Given the description of an element on the screen output the (x, y) to click on. 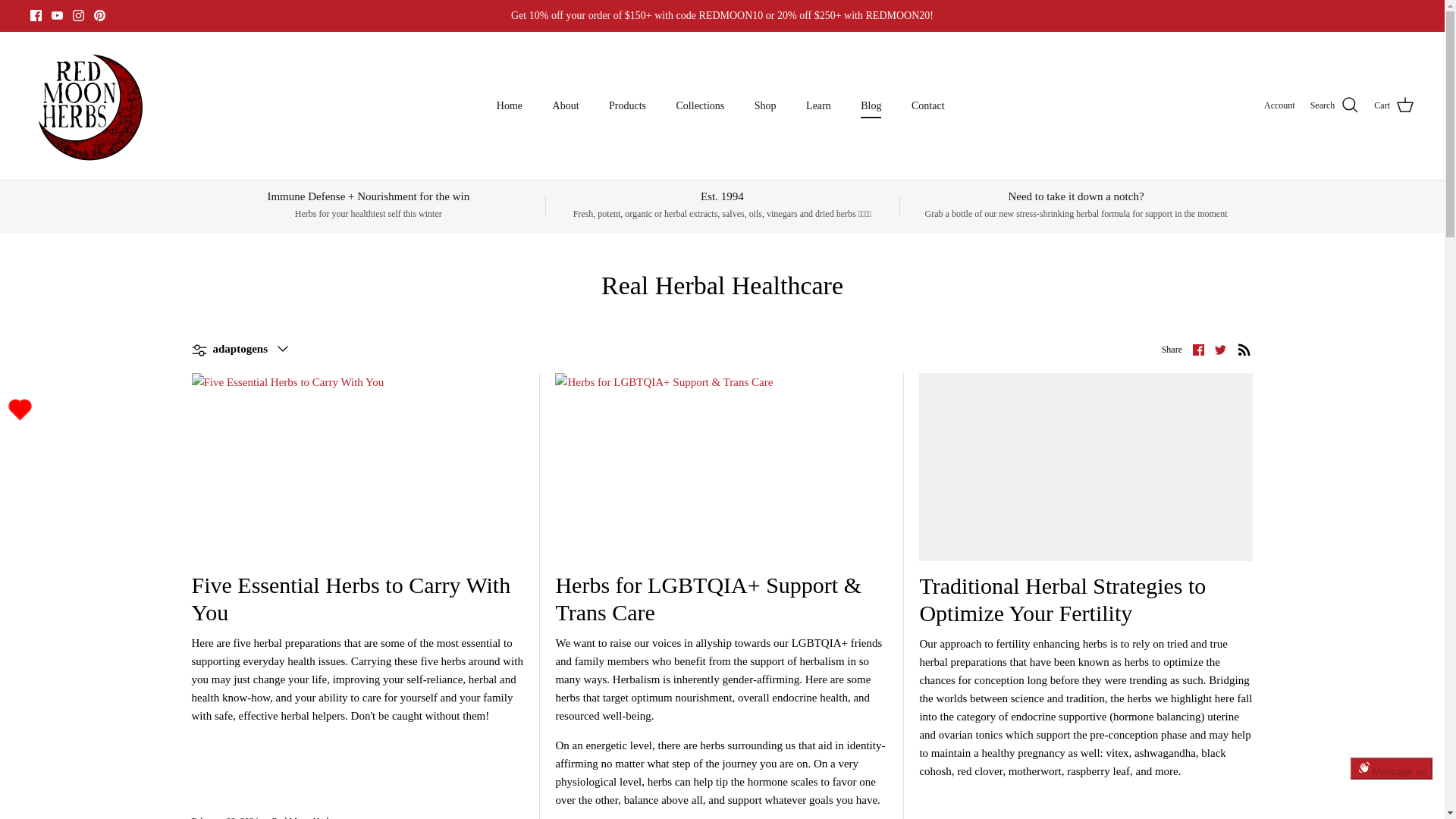
Contact (928, 105)
Instagram (78, 15)
Cart (1393, 105)
Collections (700, 105)
Blog (871, 105)
Products (627, 105)
Youtube (56, 15)
About (565, 105)
Account (1279, 105)
Red Moon Herbs (89, 105)
